Given the description of an element on the screen output the (x, y) to click on. 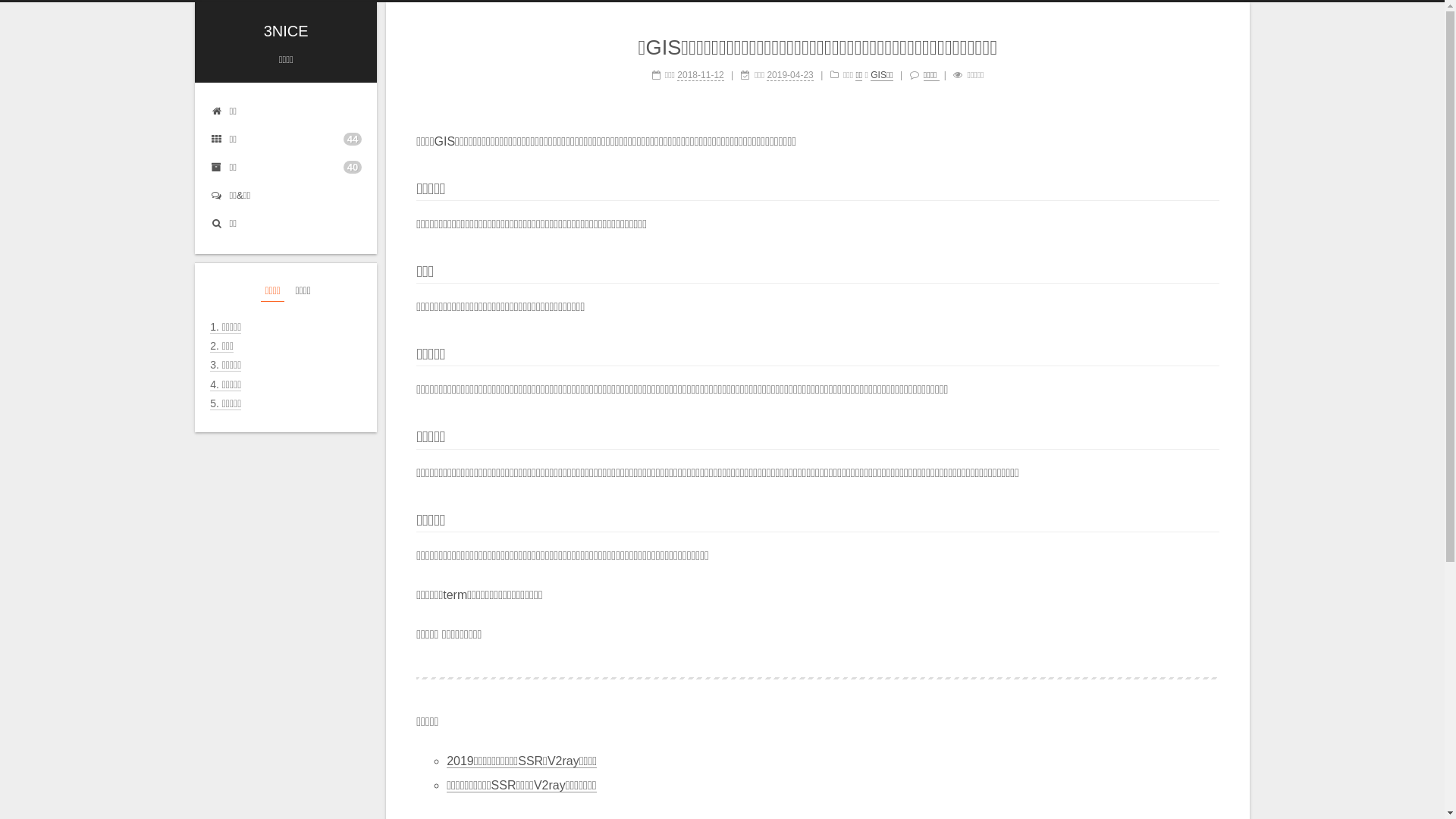
3NICE Element type: text (285, 30)
